Given the description of an element on the screen output the (x, y) to click on. 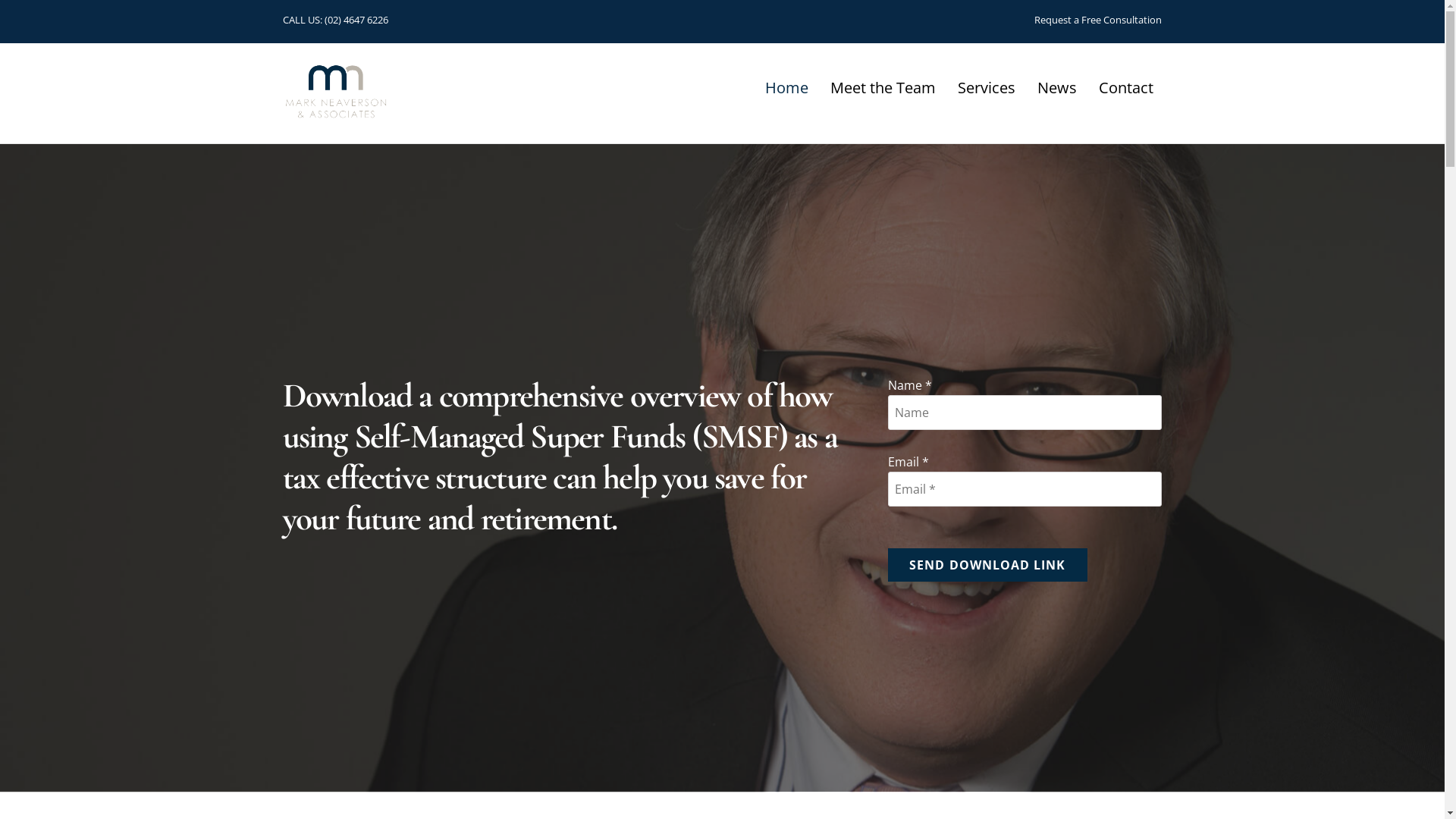
(02) 4647 6226 Element type: text (356, 19)
Request a Free Consultation Element type: text (1097, 19)
Contact Element type: text (1124, 87)
Send Download Link Element type: text (987, 564)
Macarthur Accountants Element type: hover (335, 92)
News Element type: text (1056, 87)
Macarthur Accountants Element type: hover (335, 113)
Meet the Team Element type: text (882, 87)
Services Element type: text (985, 87)
Home Element type: text (785, 87)
